Given the description of an element on the screen output the (x, y) to click on. 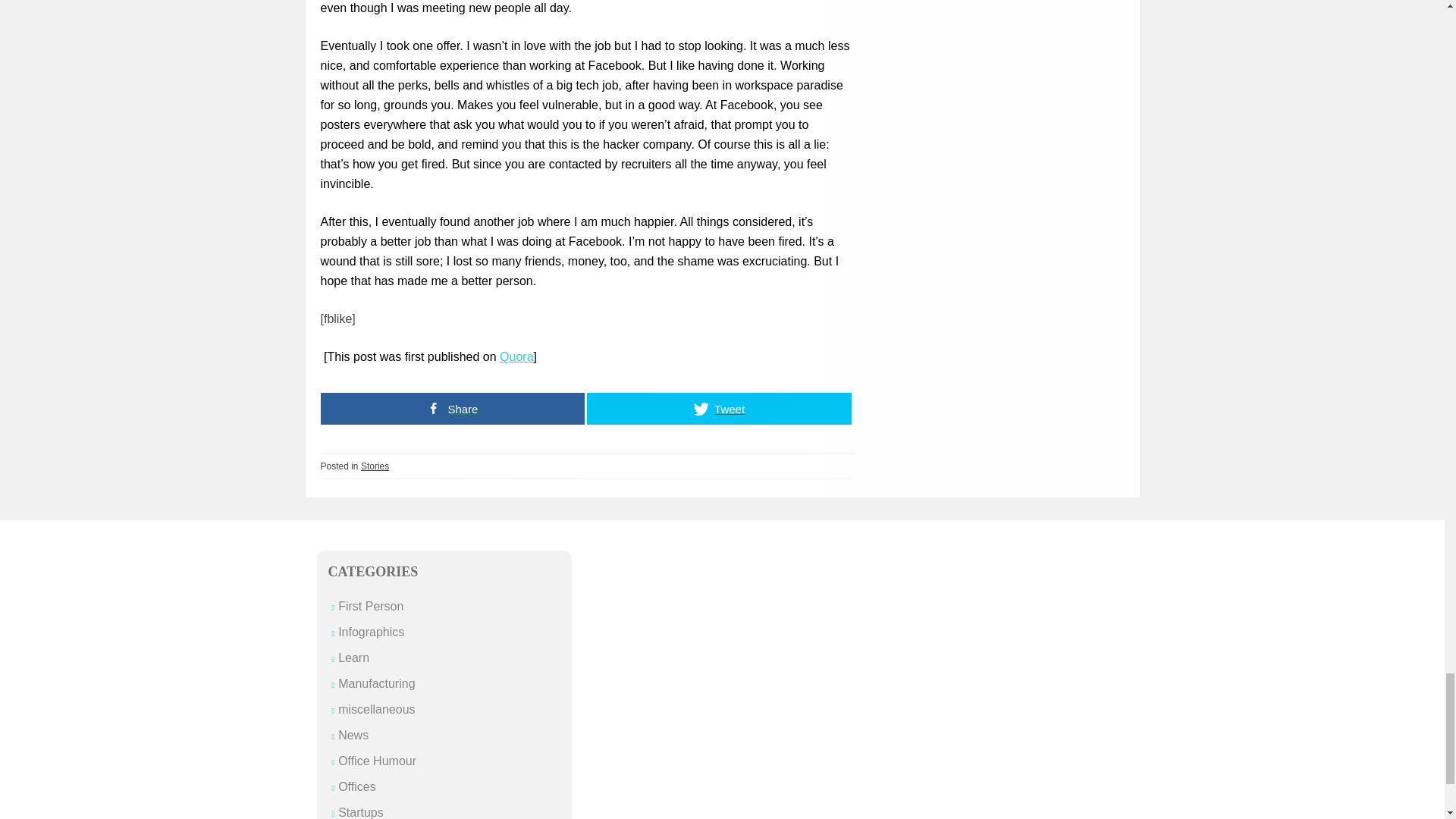
Office Humour (376, 760)
First Person (370, 605)
Infographics (370, 631)
Quora (515, 356)
Startups (360, 812)
miscellaneous (375, 708)
News (352, 735)
Offices (356, 786)
Manufacturing (375, 683)
Stories (374, 466)
Tweet (718, 409)
Share (452, 409)
Learn (353, 657)
